Given the description of an element on the screen output the (x, y) to click on. 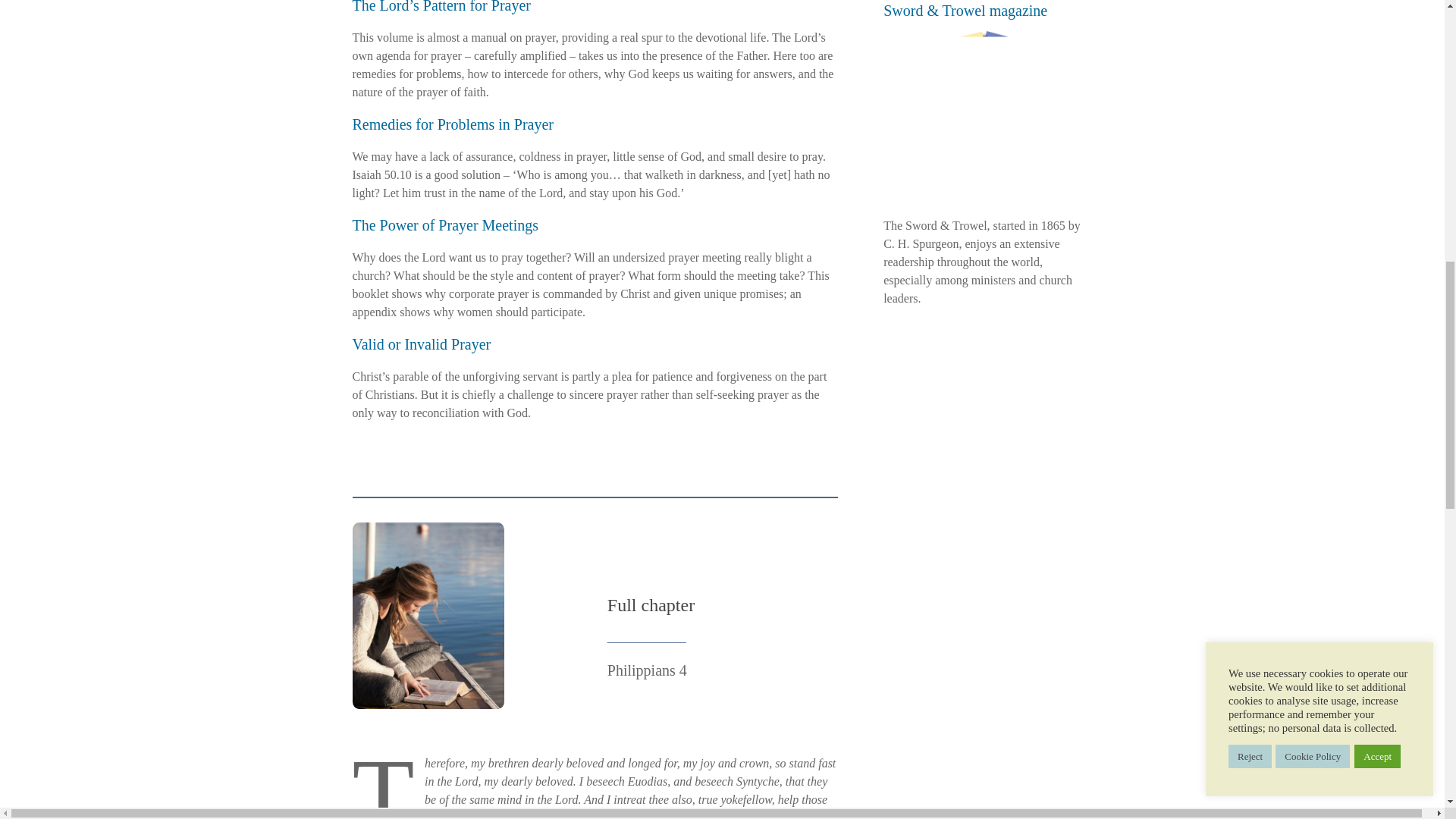
Valid or Invalid Prayer (421, 343)
The Power of Prayer Meetings (445, 225)
Remedies for Problems in Prayer (452, 124)
